Given the description of an element on the screen output the (x, y) to click on. 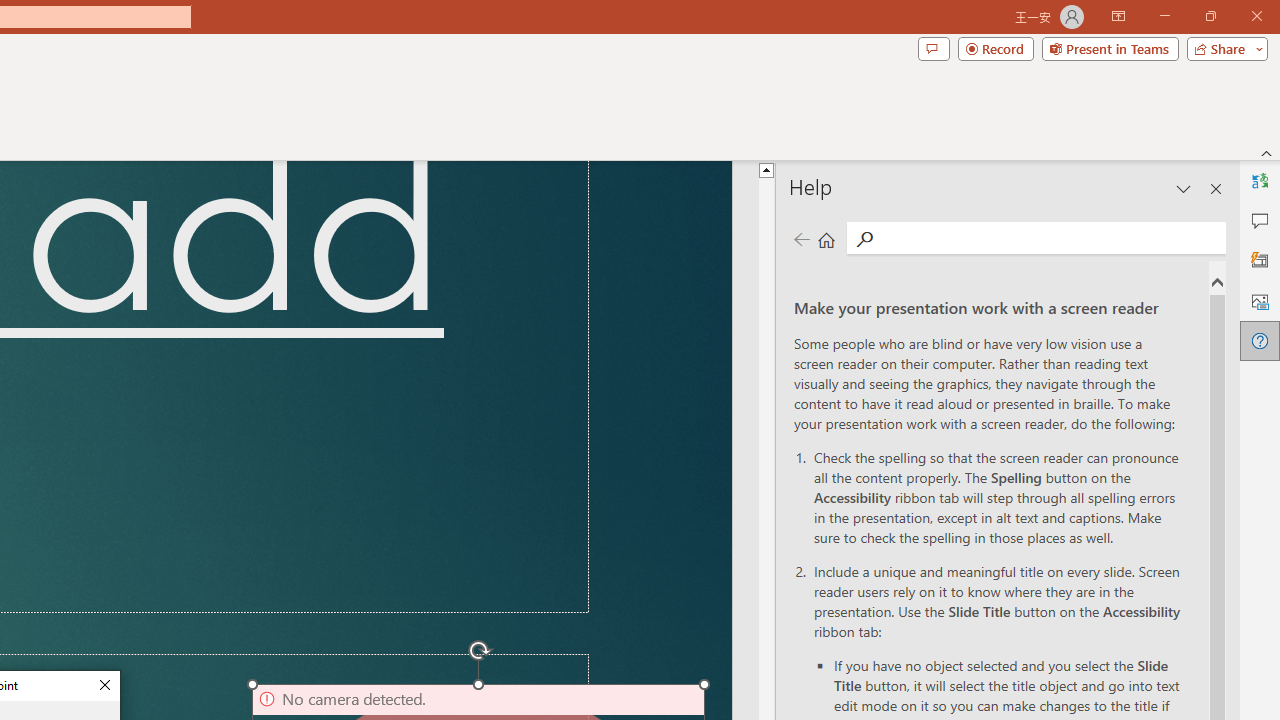
Line up (1267, 137)
Close (1244, 32)
5 more tabs (861, 281)
Class: NetUIScrollBar (1267, 94)
Restore Down (1172, 32)
Help (1027, 32)
